Given the description of an element on the screen output the (x, y) to click on. 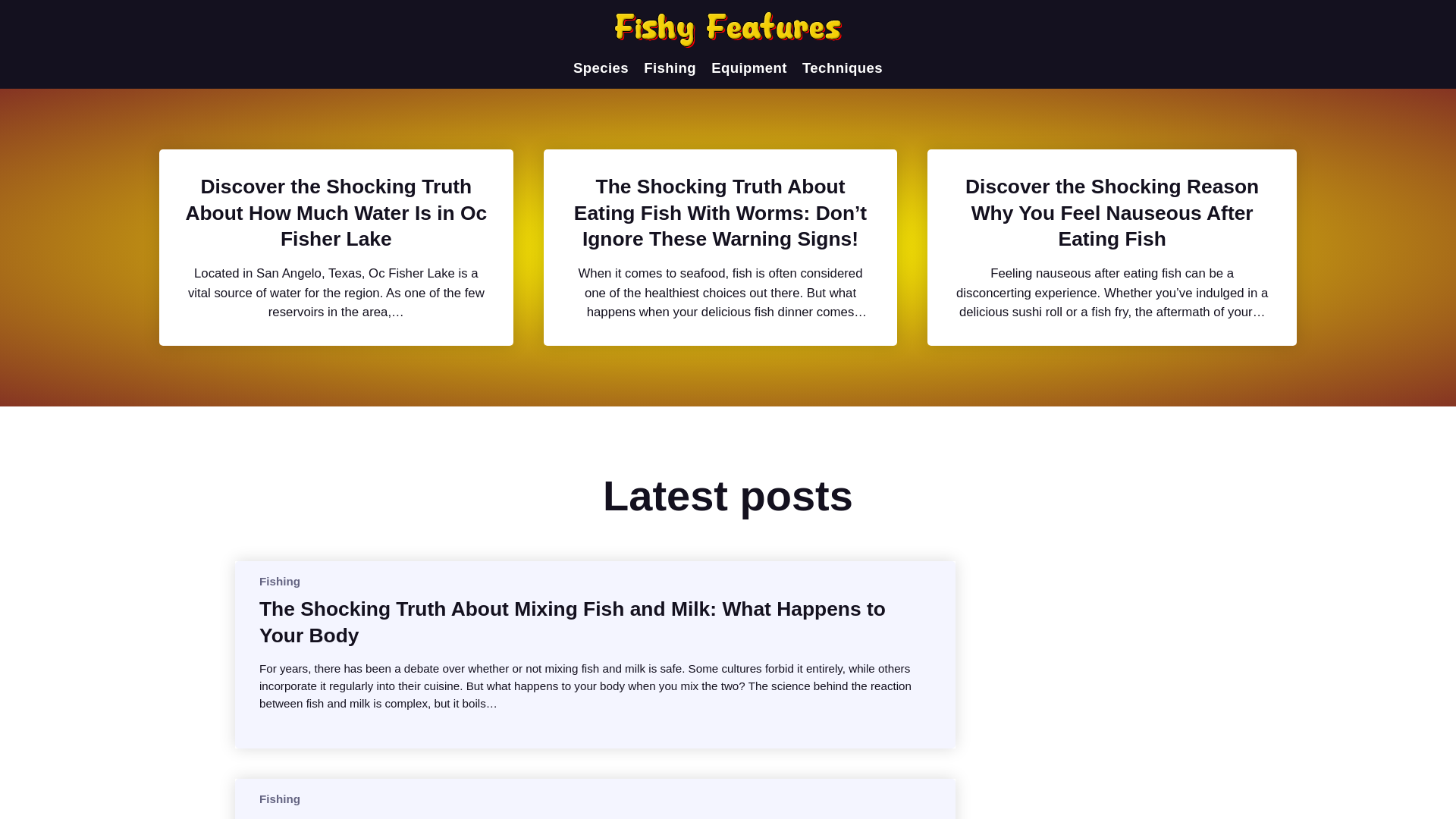
Species (600, 67)
Fishing (279, 798)
Fishing (279, 581)
Techniques (842, 67)
Fishing (669, 67)
Equipment (749, 67)
